Given the description of an element on the screen output the (x, y) to click on. 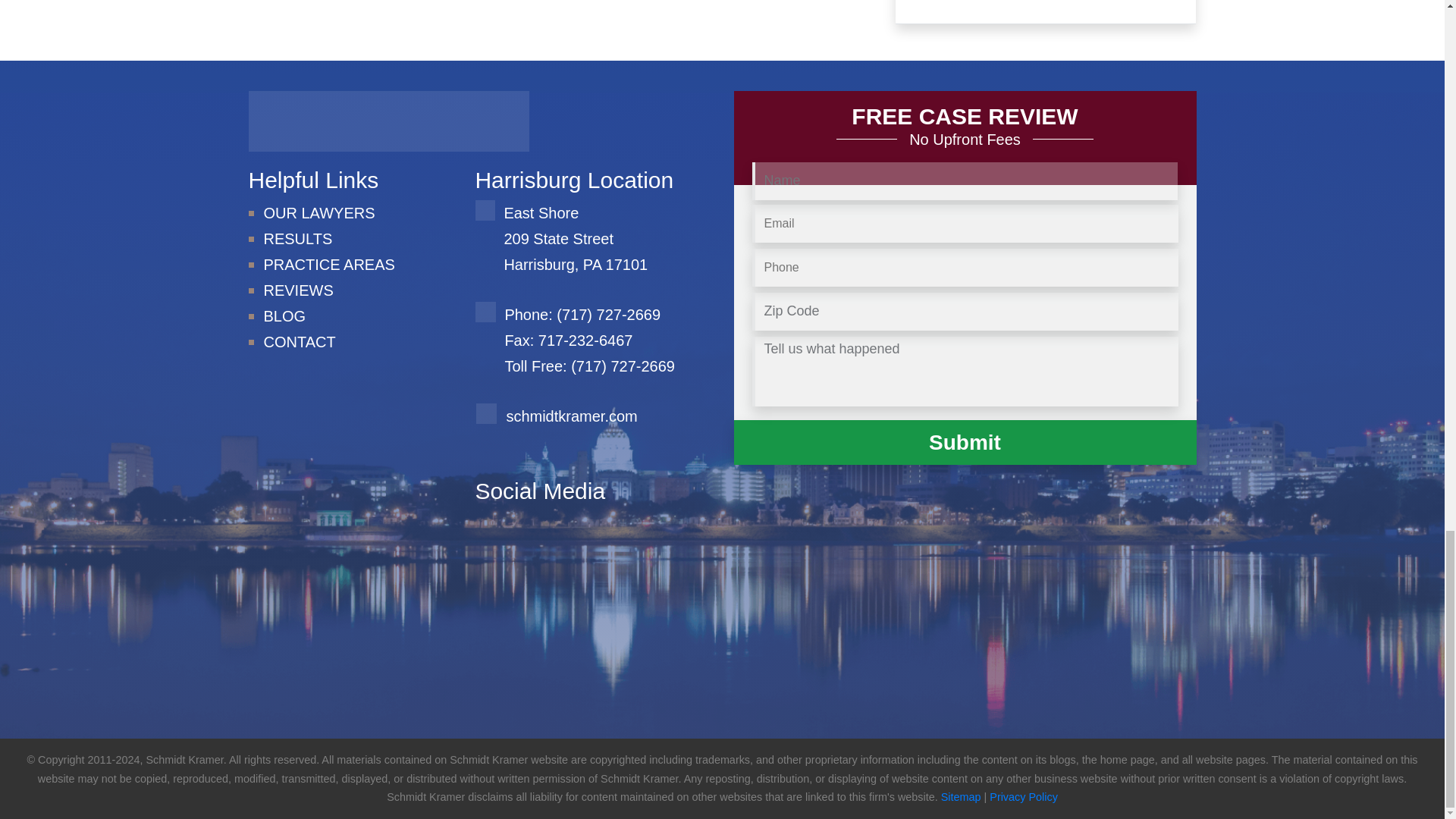
Submit (964, 443)
